Given the description of an element on the screen output the (x, y) to click on. 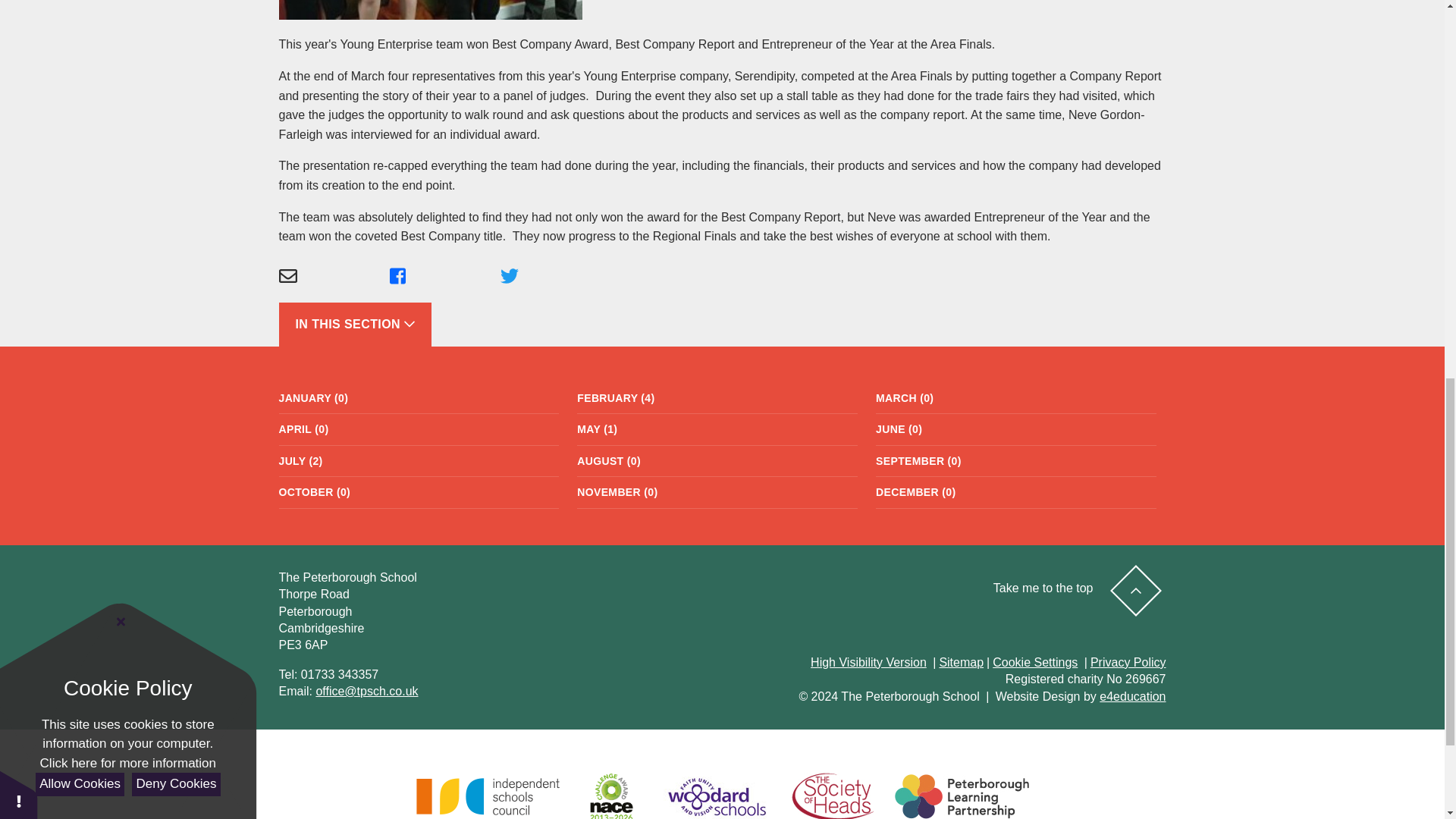
heads (832, 796)
woodard (716, 794)
Cookie Settings (1034, 662)
nace (611, 791)
ISC (486, 796)
IN THIS SECTION (354, 324)
plp (962, 796)
